Given the description of an element on the screen output the (x, y) to click on. 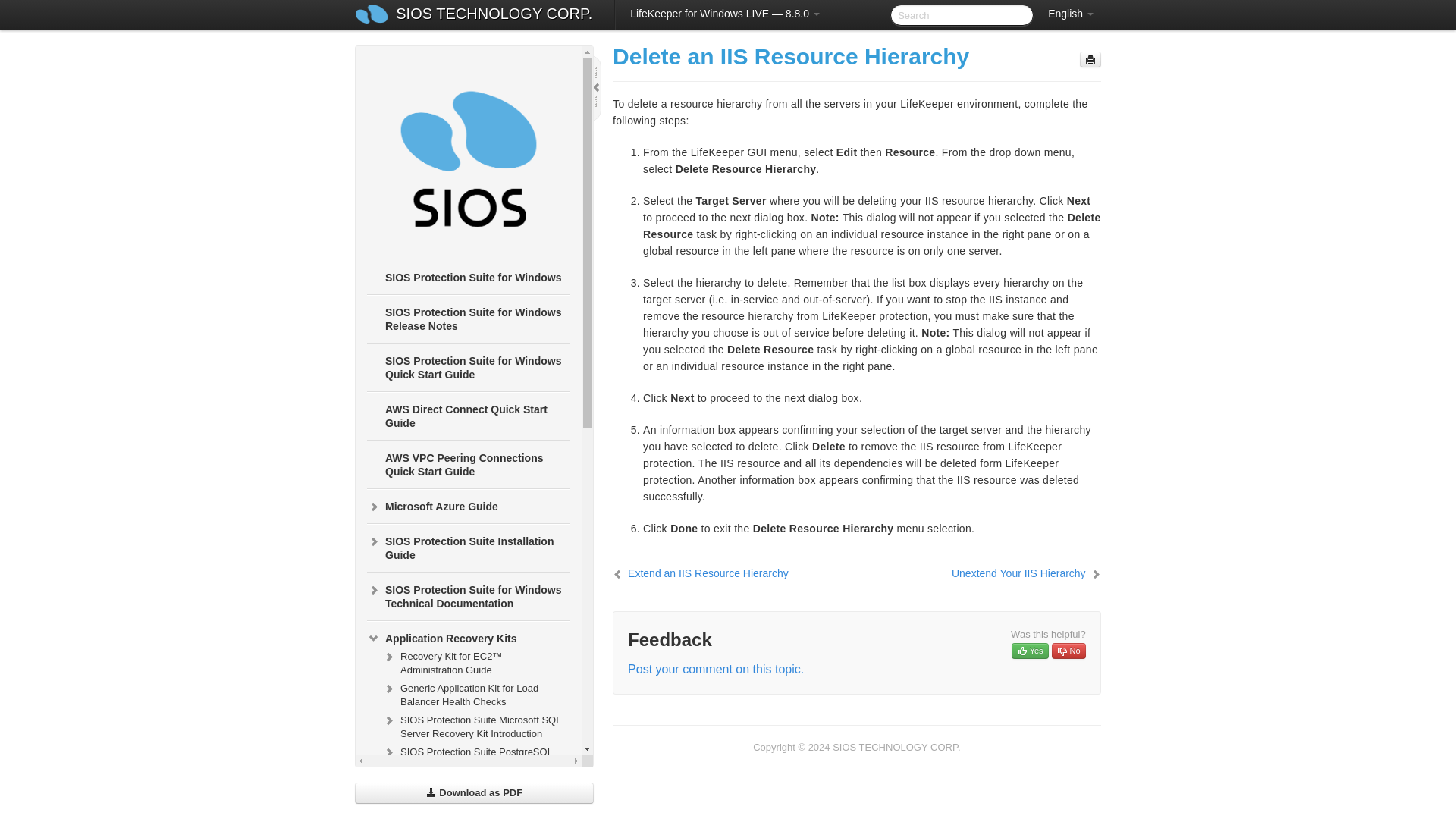
Print page (1090, 59)
English (1070, 14)
SIOS TECHNOLOGY CORP. (493, 15)
